Given the description of an element on the screen output the (x, y) to click on. 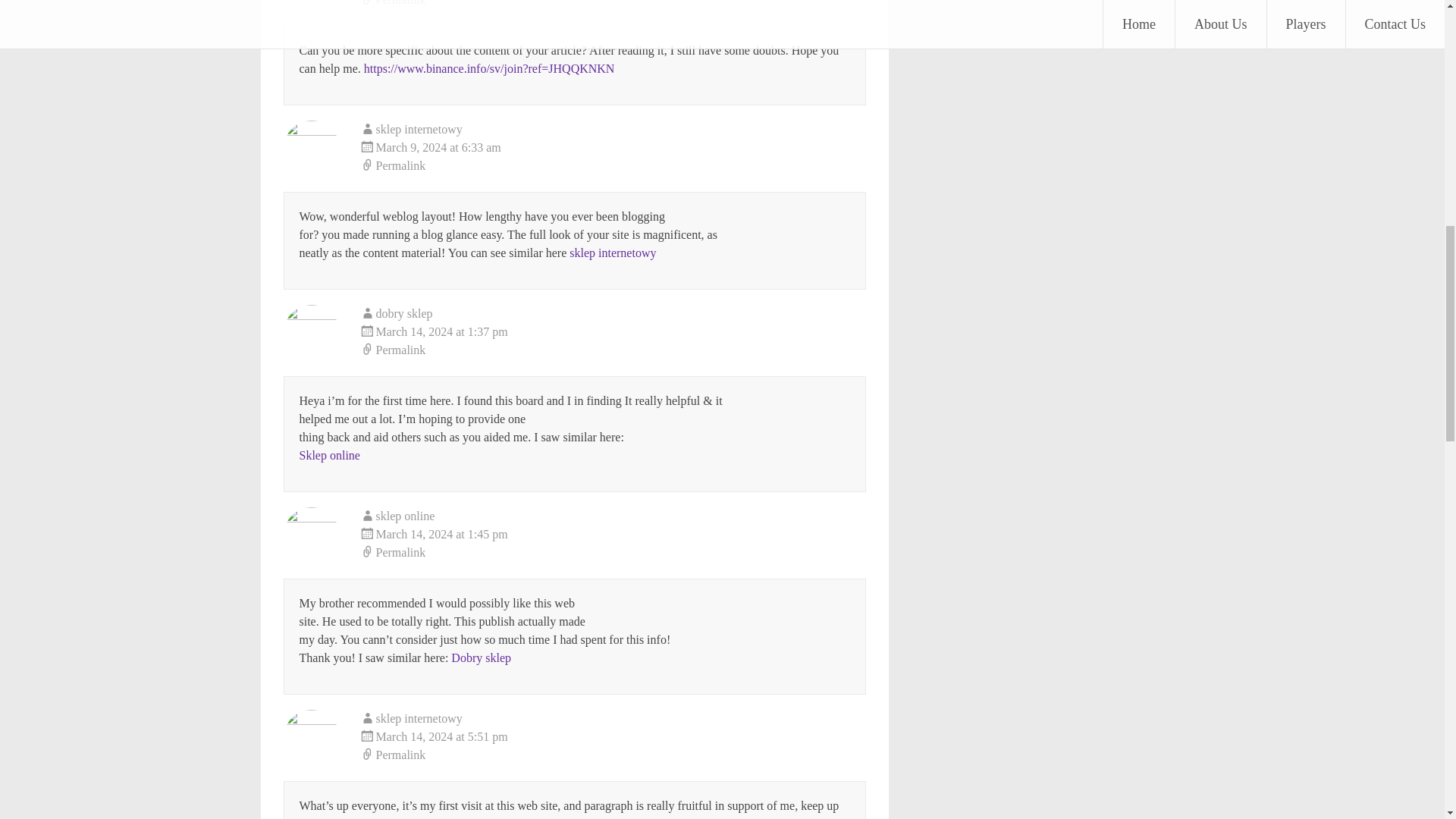
sklep internetowy (419, 128)
dobry sklep (403, 313)
Dobry sklep (481, 657)
Permalink (612, 4)
Permalink (612, 166)
sklep internetowy (419, 717)
Permalink (612, 755)
sklep internetowy (612, 252)
Sklep online (328, 454)
sklep online (405, 515)
Permalink (612, 350)
Permalink (612, 552)
